Given the description of an element on the screen output the (x, y) to click on. 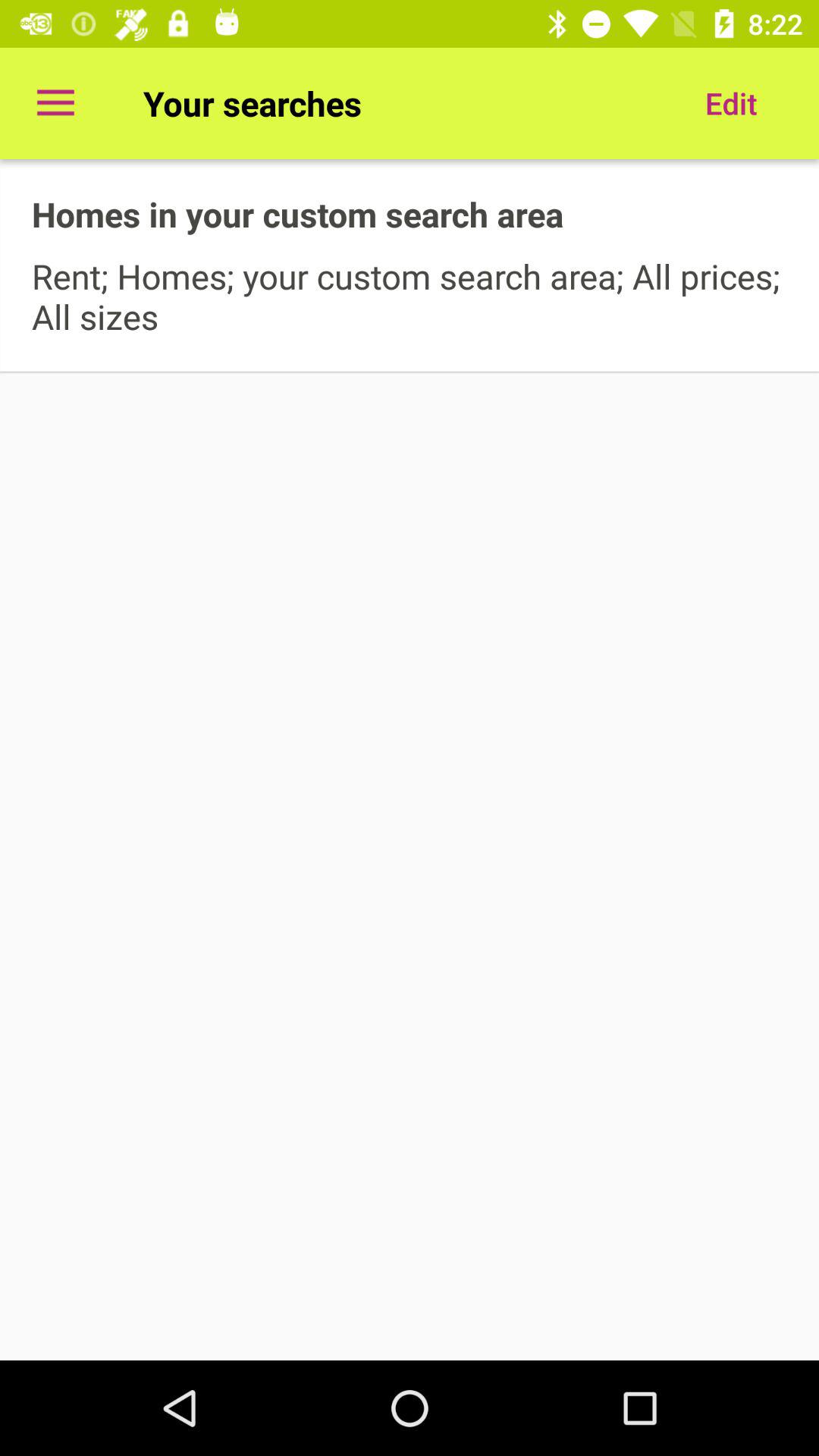
tap edit icon (731, 103)
